Given the description of an element on the screen output the (x, y) to click on. 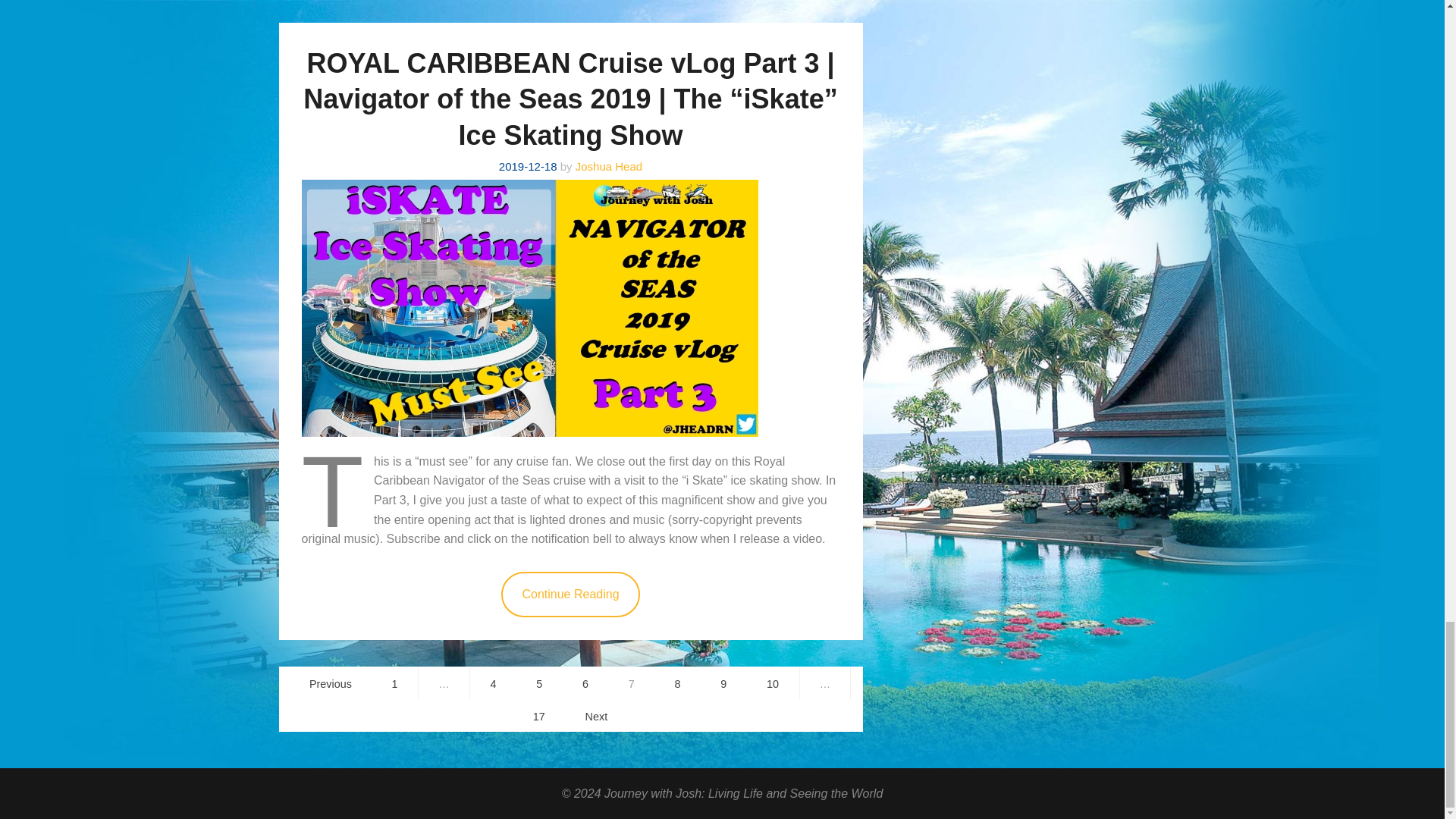
5 (539, 682)
1 (394, 682)
8 (677, 682)
2019-12-18 (528, 165)
9 (722, 682)
4 (493, 682)
Continue Reading (569, 594)
10 (771, 682)
Next (596, 715)
Previous (330, 682)
6 (585, 682)
17 (538, 715)
